Given the description of an element on the screen output the (x, y) to click on. 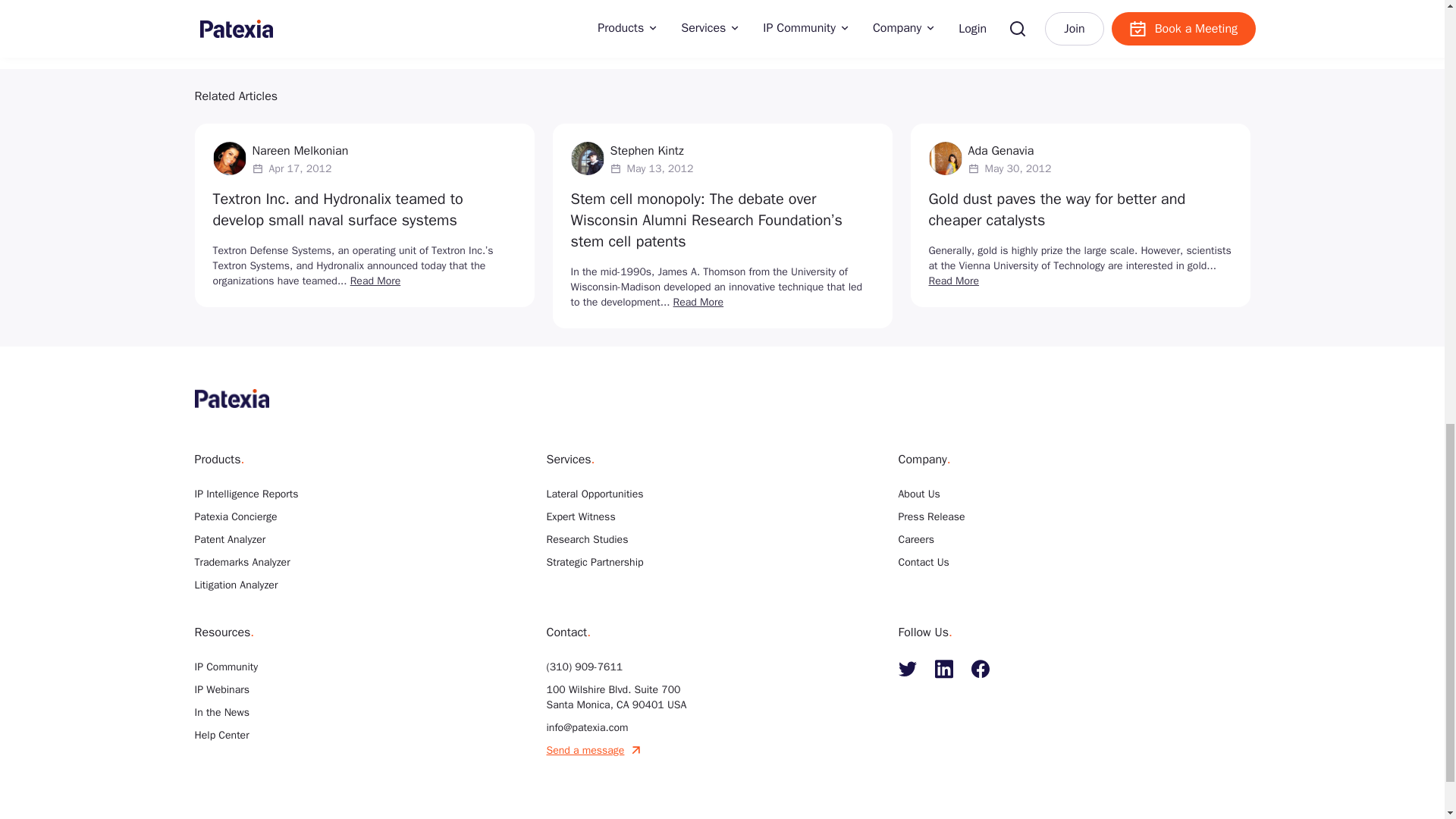
Stephen Kintz (646, 150)
Nareen Melkonian (299, 150)
Login (557, 10)
Read More (375, 280)
